Given the description of an element on the screen output the (x, y) to click on. 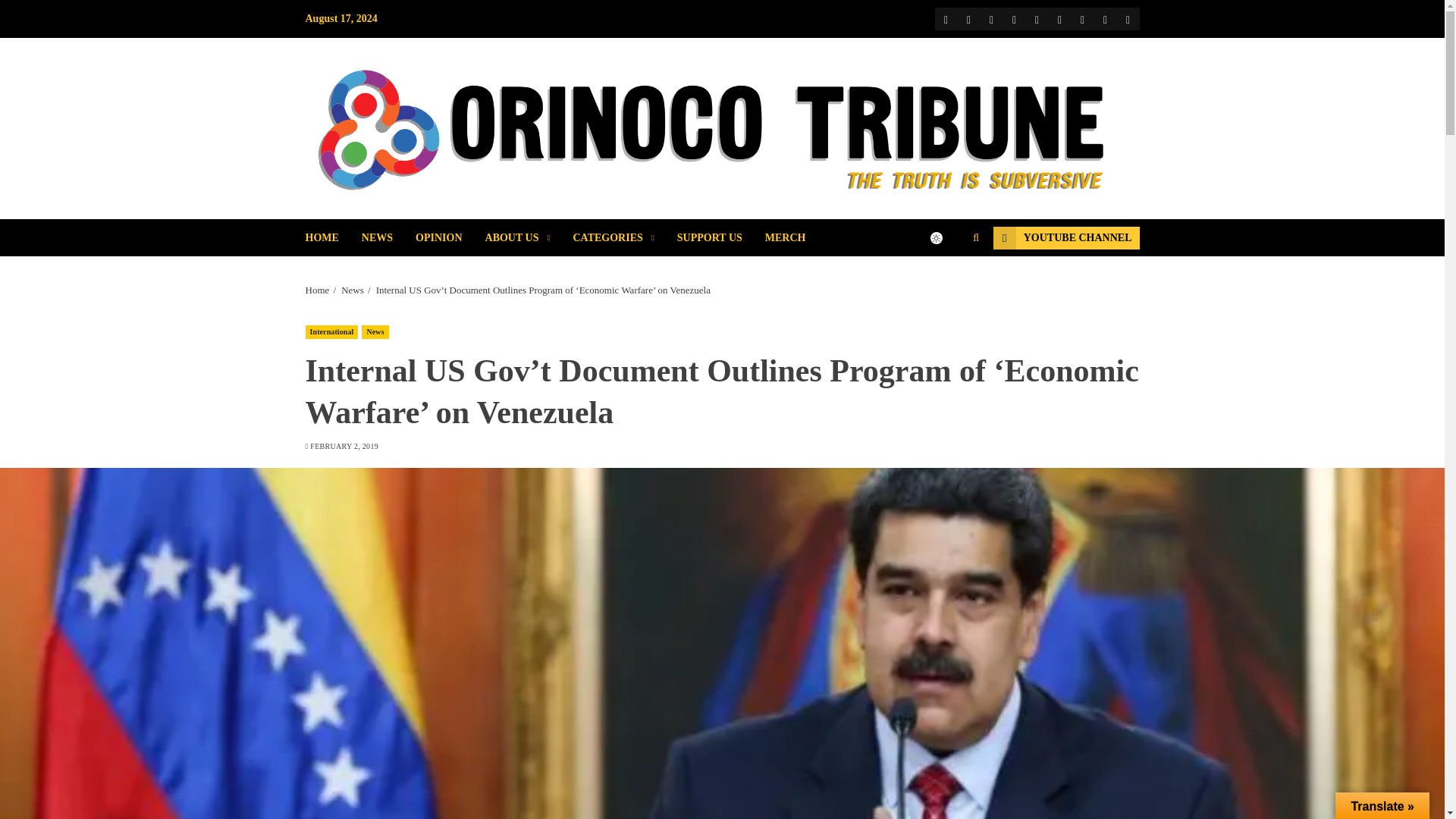
Telegram (1059, 18)
YouTube (991, 18)
NEWS (387, 237)
HOME (332, 237)
LinkedIn (1104, 18)
IG (1014, 18)
FB (945, 18)
CATEGORIES (624, 237)
ABOUT US (528, 237)
TikTok (1081, 18)
